Given the description of an element on the screen output the (x, y) to click on. 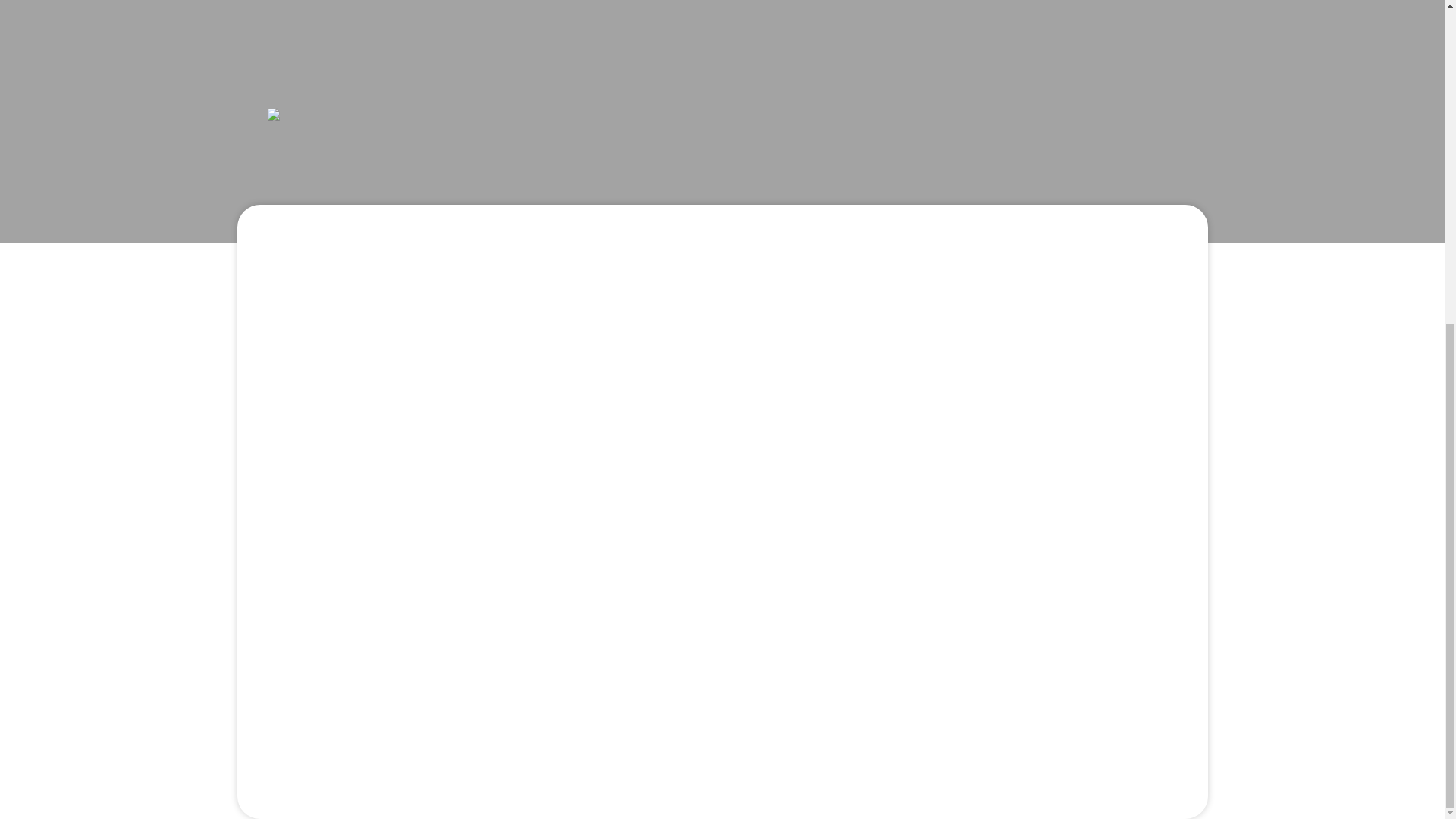
Click to edit (725, 527)
Column (725, 387)
Column (725, 247)
Column (725, 668)
